Given the description of an element on the screen output the (x, y) to click on. 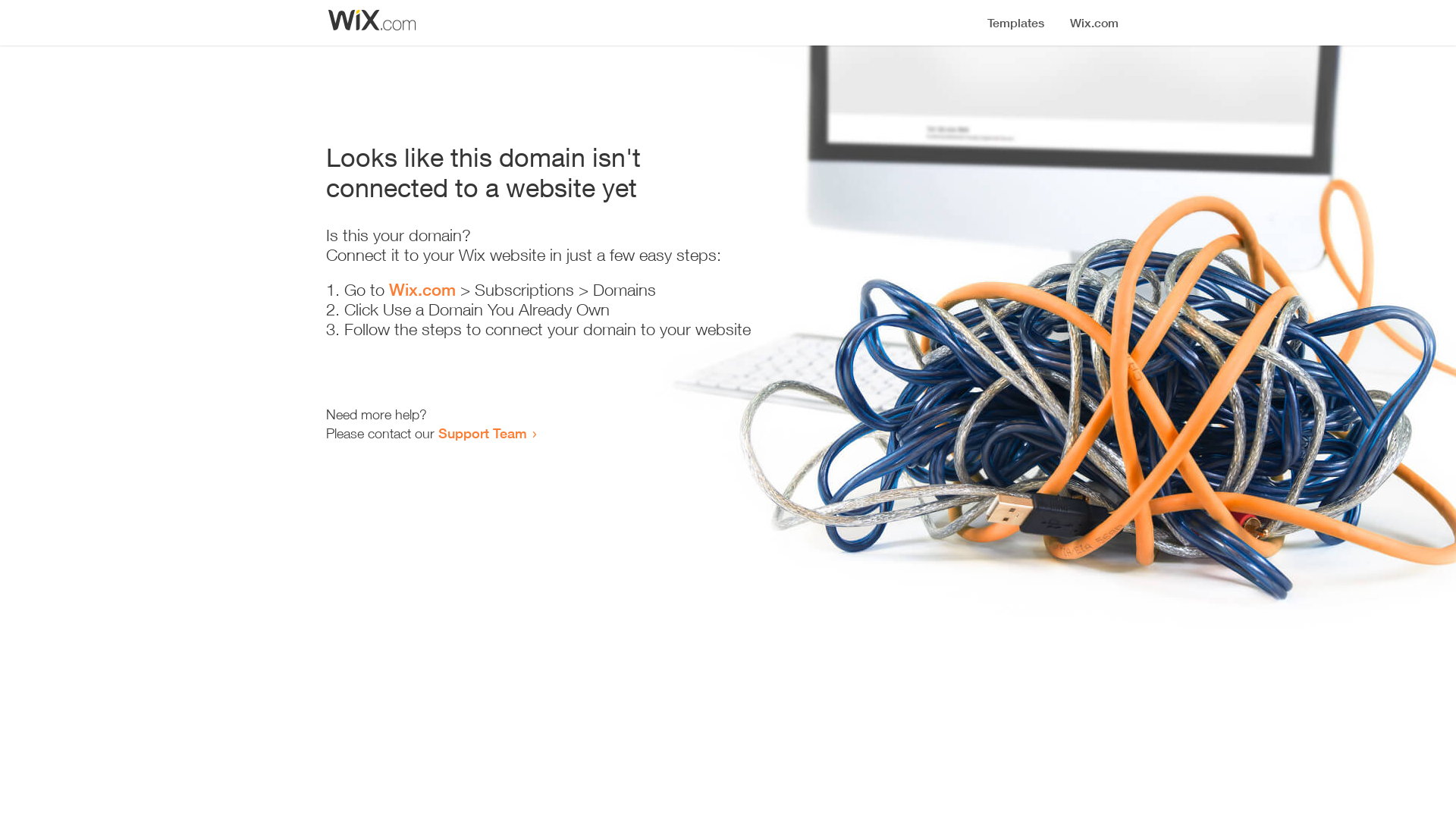
Wix.com Element type: text (422, 289)
Support Team Element type: text (482, 432)
